Given the description of an element on the screen output the (x, y) to click on. 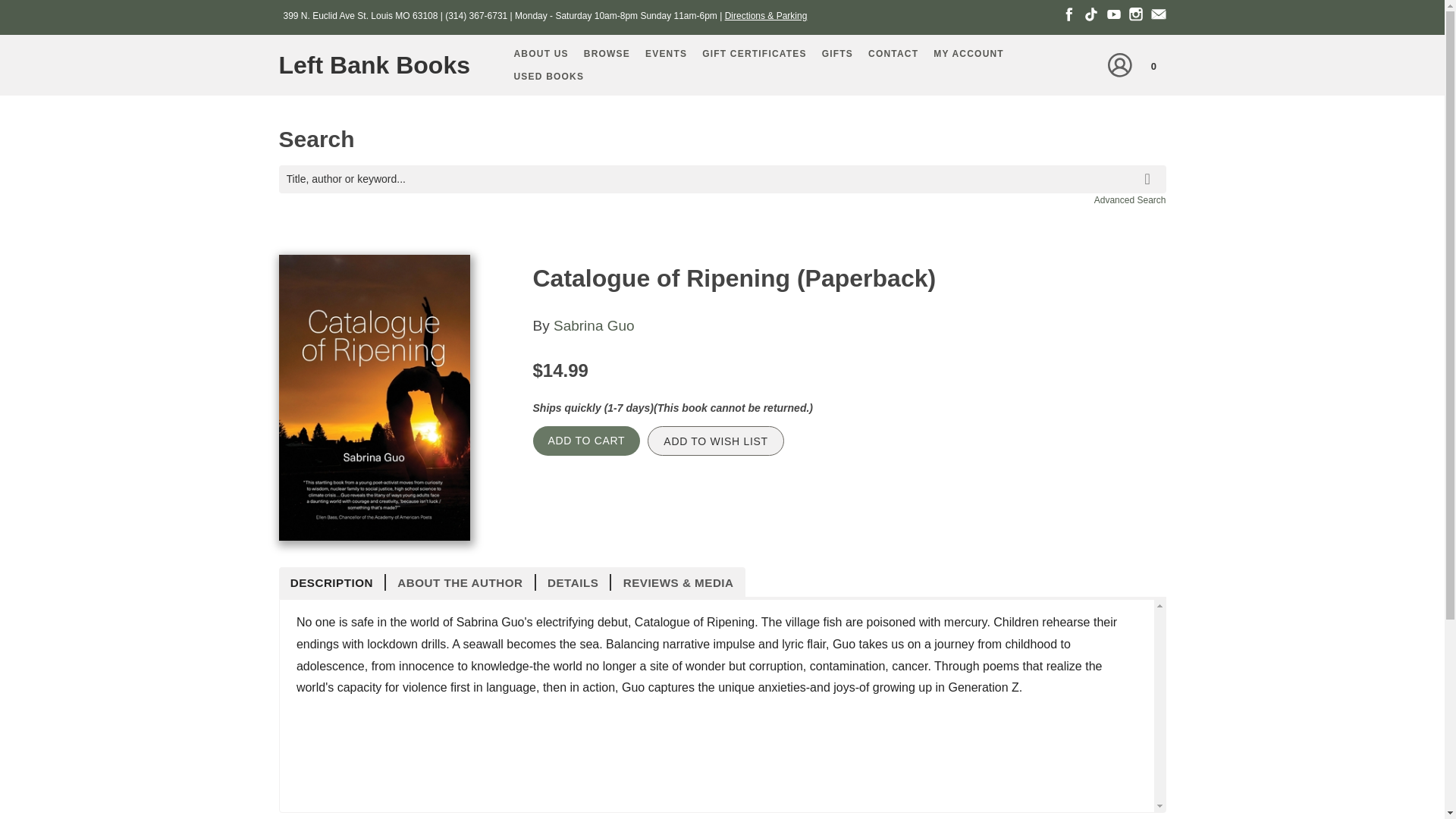
BROWSE (606, 53)
search (1150, 167)
T-Shirts, Gifts and More (836, 53)
GIFTS (836, 53)
GIFT CERTIFICATES (753, 53)
Add to Cart (586, 440)
Home (381, 64)
EVENTS (665, 53)
Title, author or keyword... (722, 179)
ABOUT US (541, 53)
Left Bank Books (381, 64)
